Given the description of an element on the screen output the (x, y) to click on. 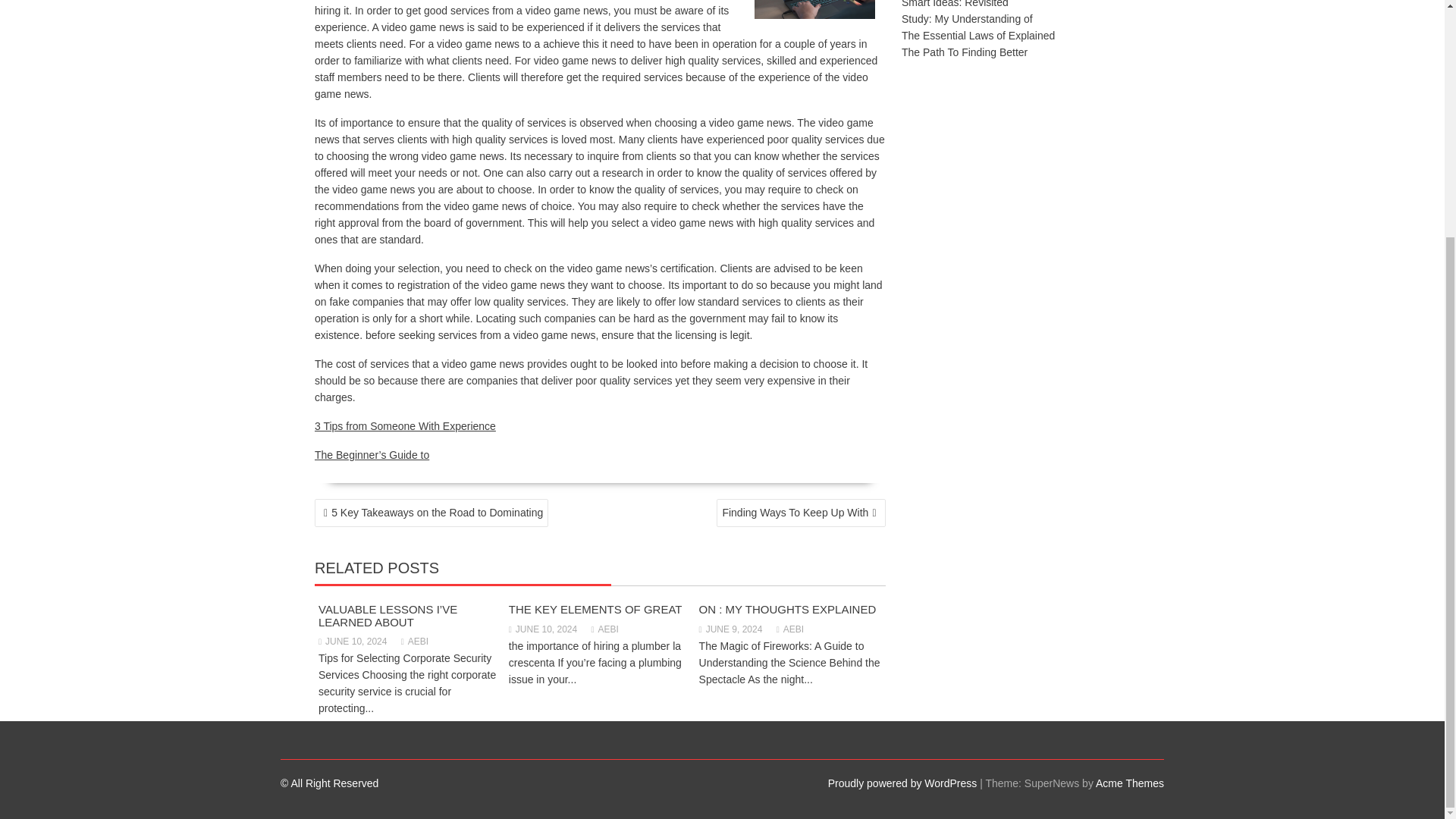
Proudly powered by WordPress (902, 783)
THE KEY ELEMENTS OF GREAT (595, 608)
Study: My Understanding of (966, 19)
Smart Ideas: Revisited (955, 4)
The Essential Laws of Explained (977, 35)
The Path To Finding Better (964, 51)
AEBI (789, 629)
ON : MY THOUGHTS EXPLAINED (787, 608)
JUNE 10, 2024 (352, 641)
JUNE 9, 2024 (730, 629)
Finding Ways To Keep Up With (800, 512)
Acme Themes (1129, 783)
AEBI (414, 641)
3 Tips from Someone With Experience (405, 426)
5 Key Takeaways on the Road to Dominating (431, 512)
